Given the description of an element on the screen output the (x, y) to click on. 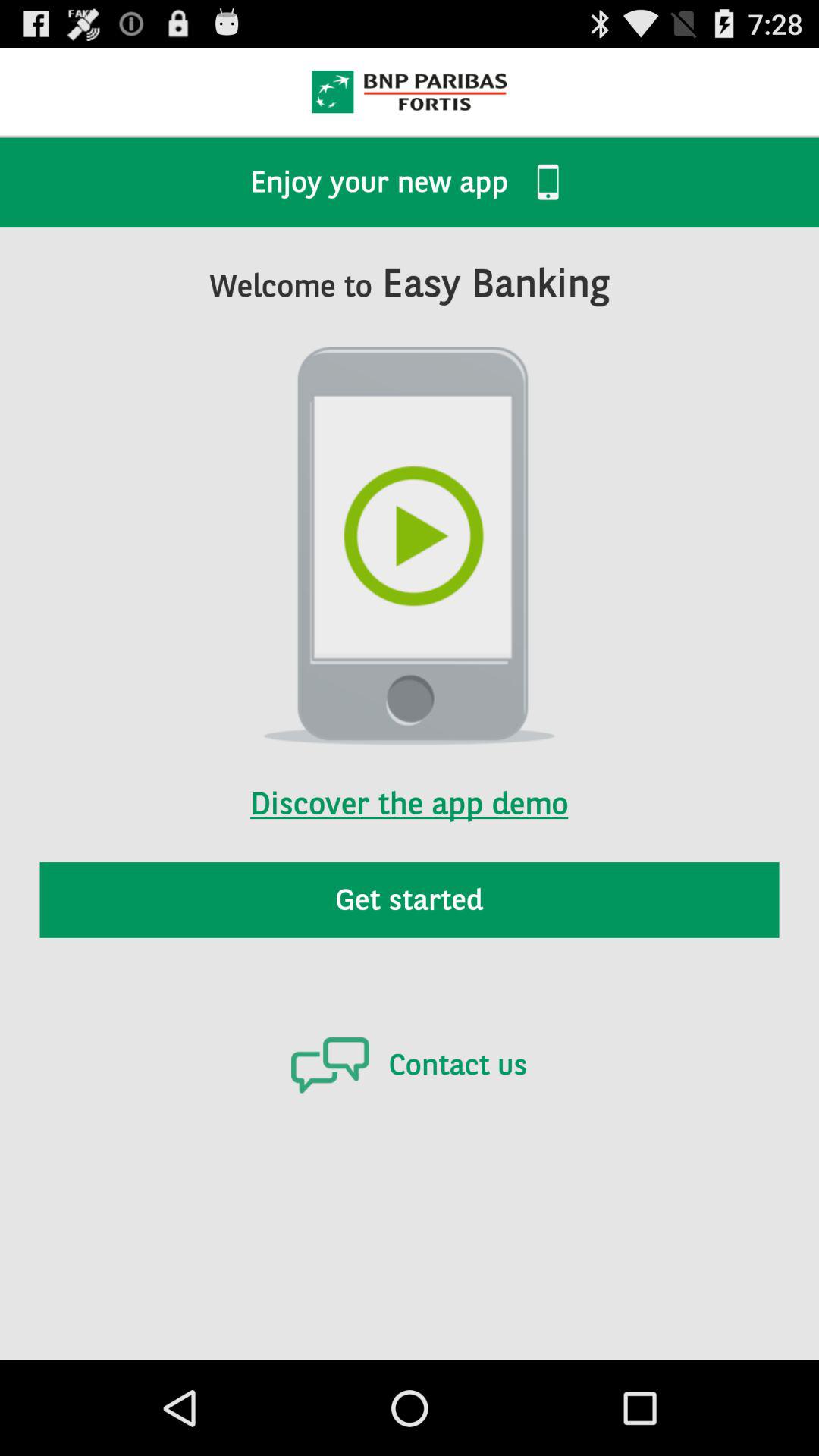
launch the get started (409, 899)
